Given the description of an element on the screen output the (x, y) to click on. 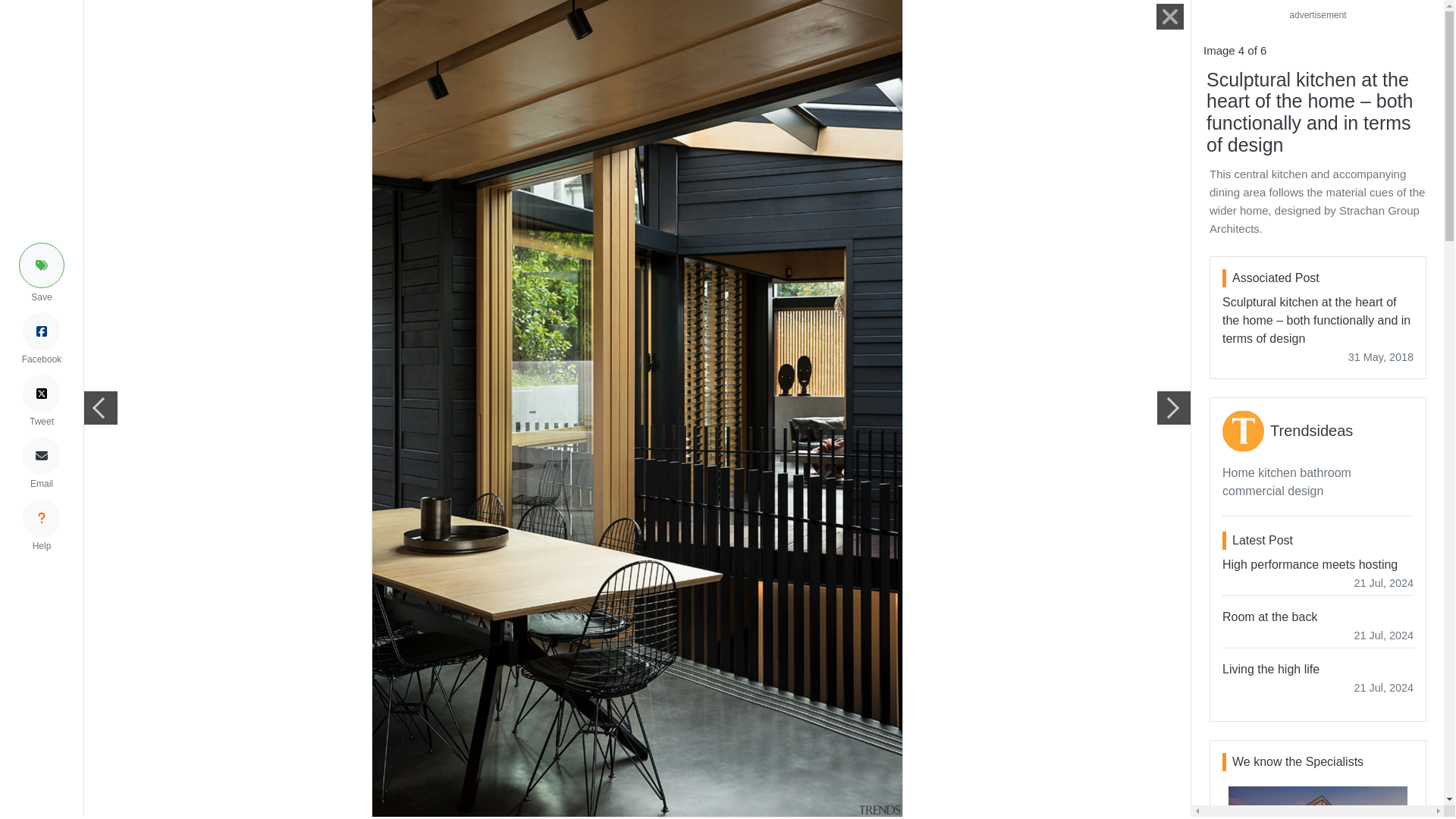
Living the high life (1318, 669)
Room at the back (1318, 617)
Trendsideas (1310, 430)
High performance meets hosting (1318, 564)
